Given the description of an element on the screen output the (x, y) to click on. 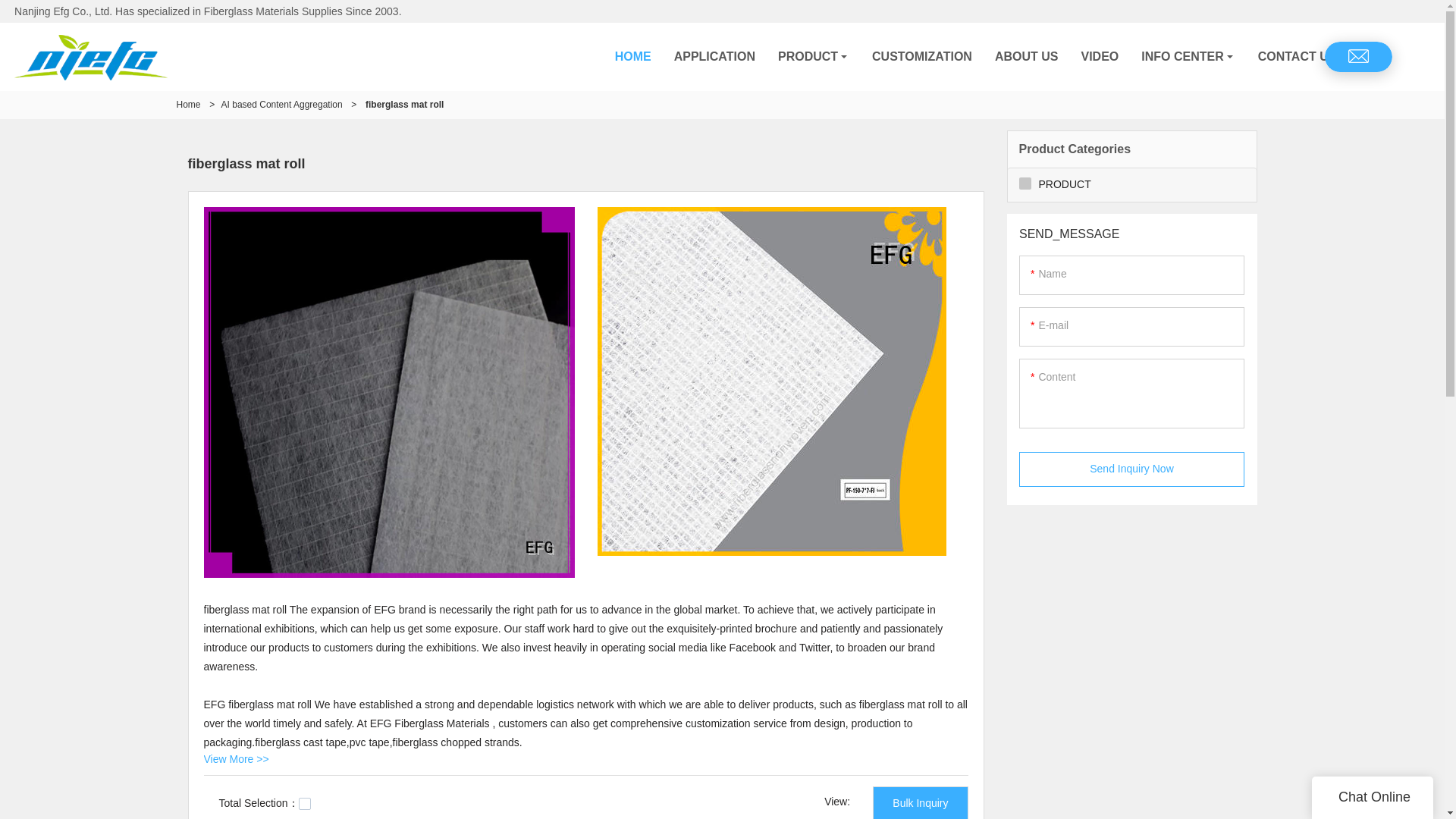
APPLICATION (714, 56)
ABOUT US (1027, 56)
CUSTOMIZATION (922, 56)
on (304, 803)
PRODUCT (813, 56)
Home (188, 104)
AI based Content Aggregation (281, 104)
CONTACT US (1297, 56)
INFO CENTER (1187, 56)
